Given the description of an element on the screen output the (x, y) to click on. 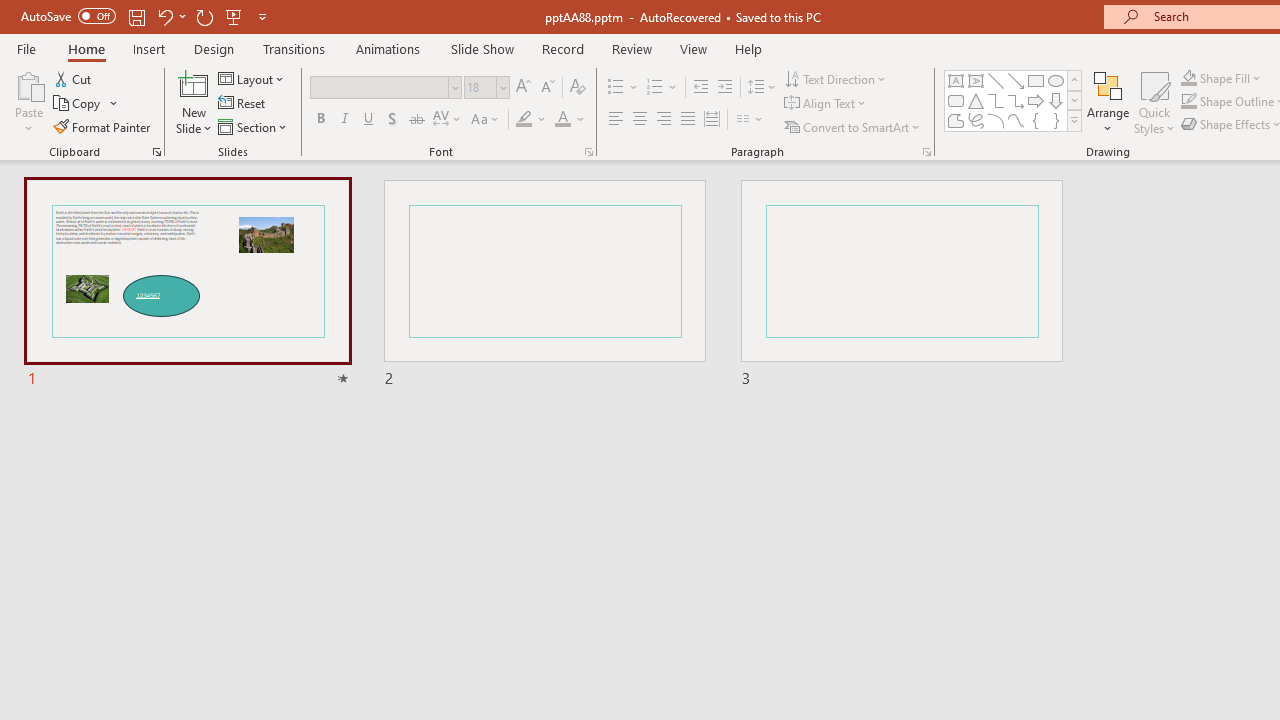
Section (254, 126)
Office Clipboard... (156, 151)
Text Highlight Color Yellow (524, 119)
Right Brace (1055, 120)
